Given the description of an element on the screen output the (x, y) to click on. 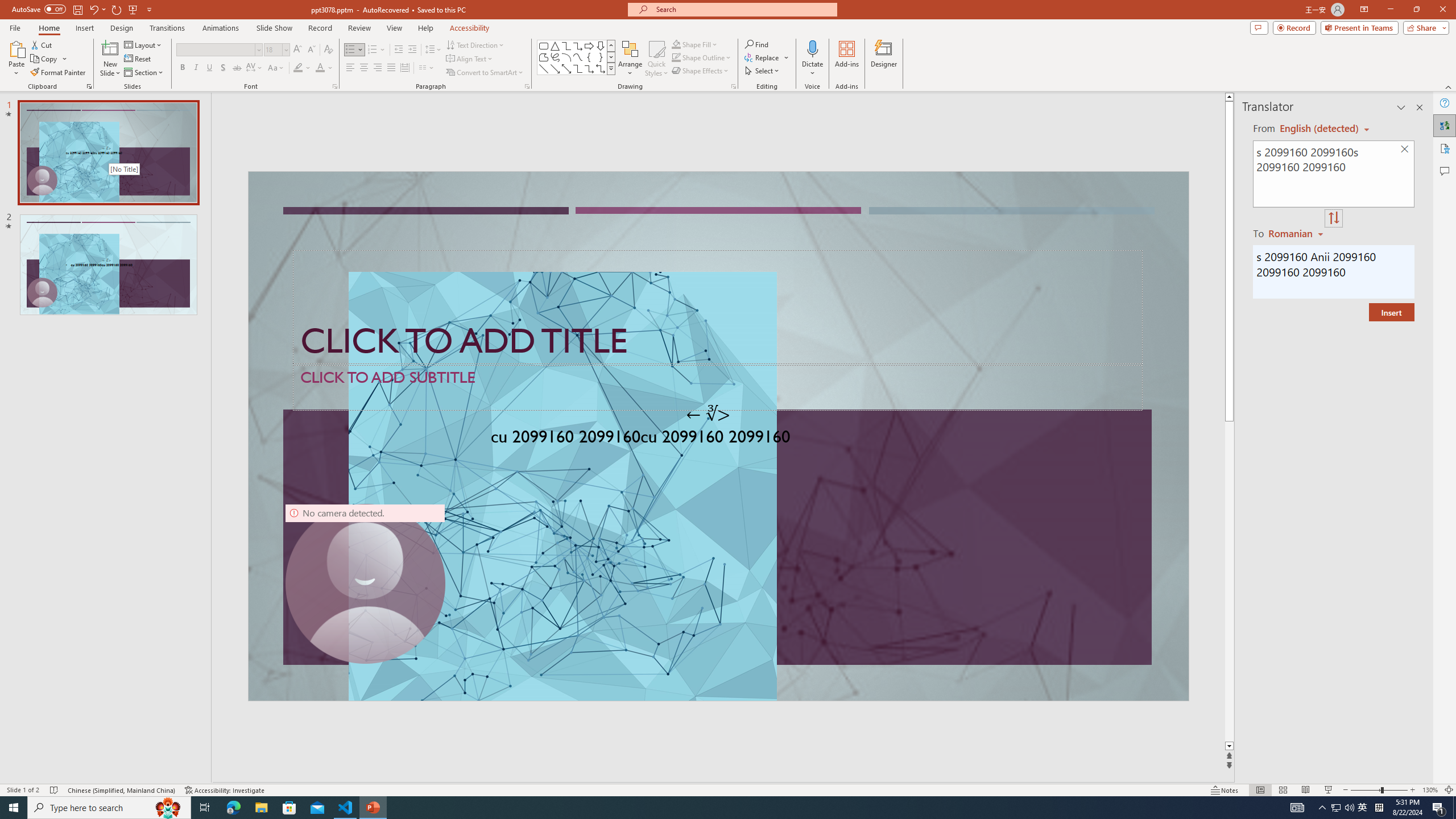
Czech (1296, 232)
